Given the description of an element on the screen output the (x, y) to click on. 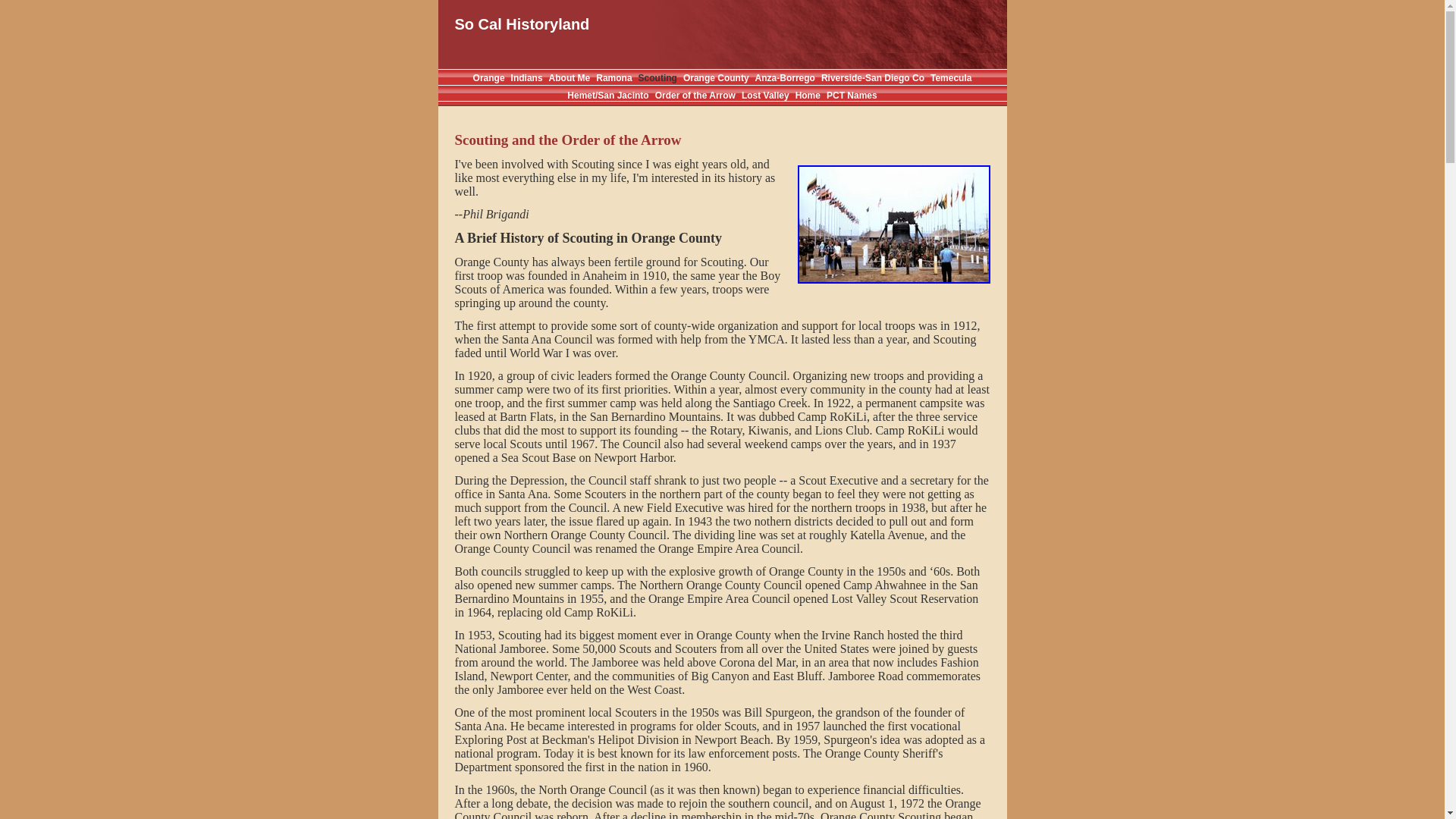
Lost Valley (764, 95)
Indians (526, 77)
Order of the Arrow (694, 95)
Home (807, 95)
Orange (488, 77)
Ramona (613, 77)
Orange County (716, 77)
Anza-Borrego (785, 77)
Temecula (950, 77)
Scouting (657, 77)
About Me (569, 77)
Riverside-San Diego Co (872, 77)
PCT Names (852, 95)
